Given the description of an element on the screen output the (x, y) to click on. 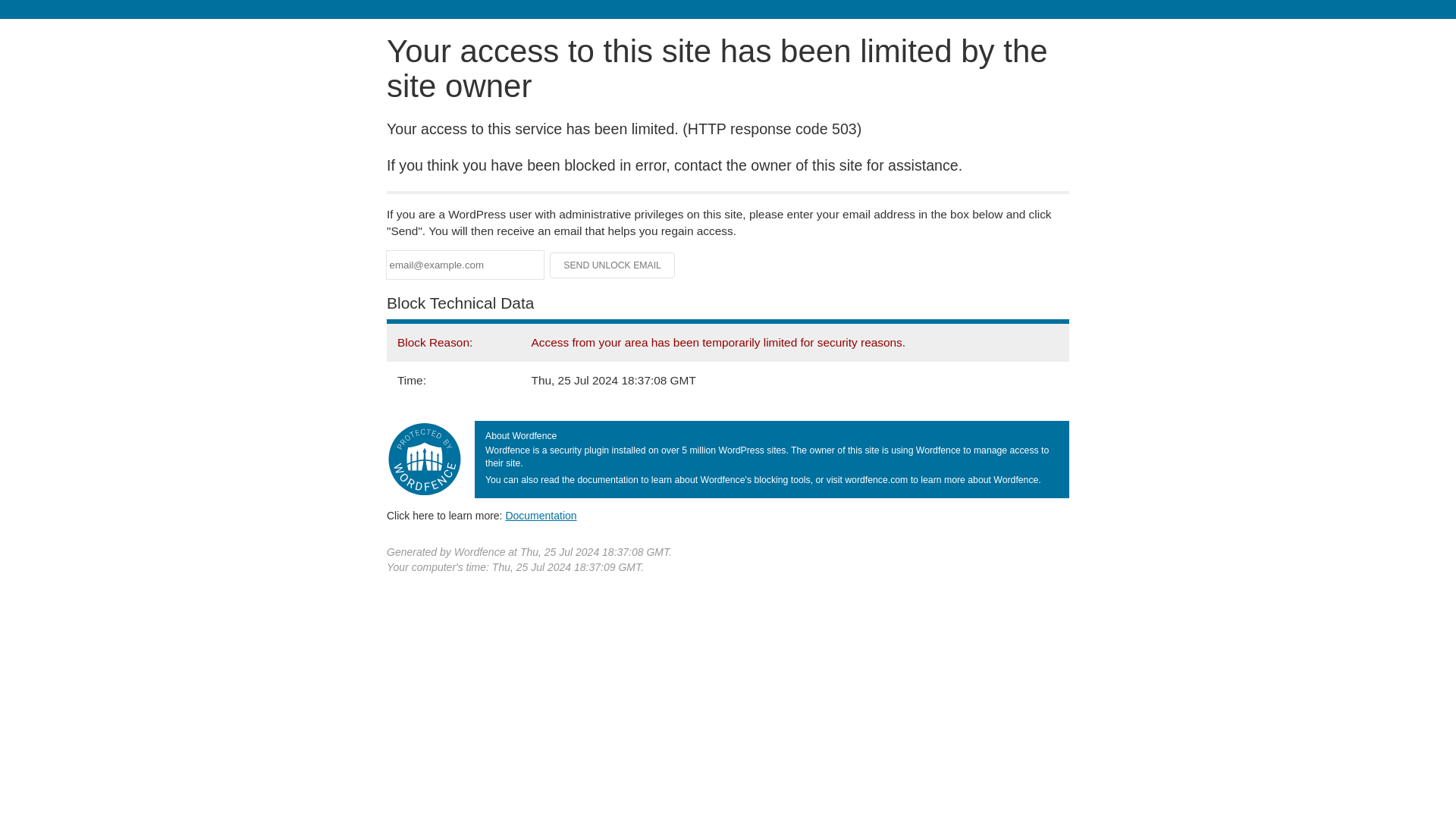
Send Unlock Email (612, 265)
Send Unlock Email (612, 265)
Documentation (540, 515)
